Given the description of an element on the screen output the (x, y) to click on. 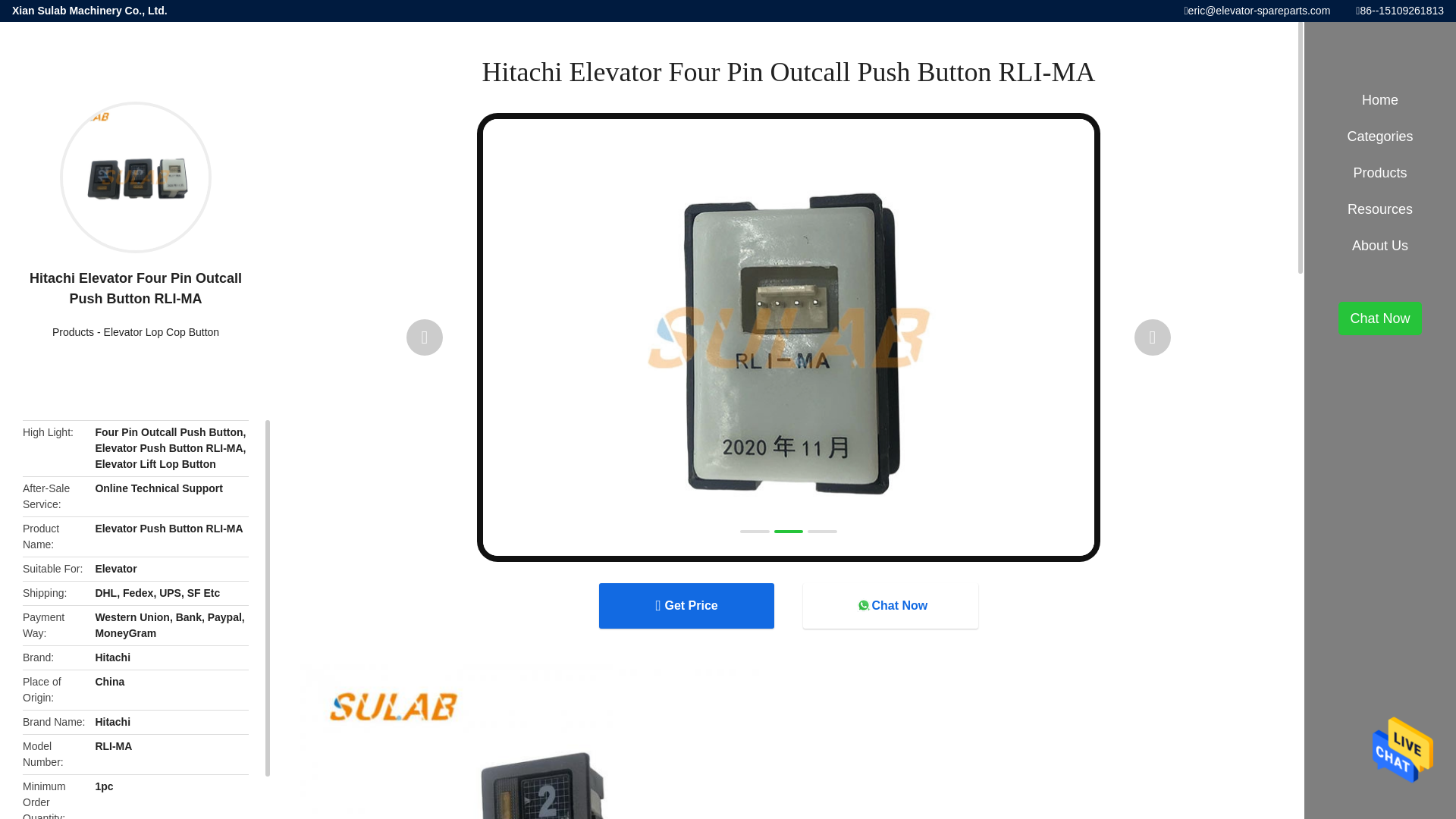
China Elevator Lop Cop Button Manufacturers (161, 331)
Chat Now (889, 605)
Elevator Lop Cop Button (161, 331)
Categories (1379, 135)
Products (73, 331)
Get Price (685, 605)
Home (1379, 99)
Products (73, 331)
